Given the description of an element on the screen output the (x, y) to click on. 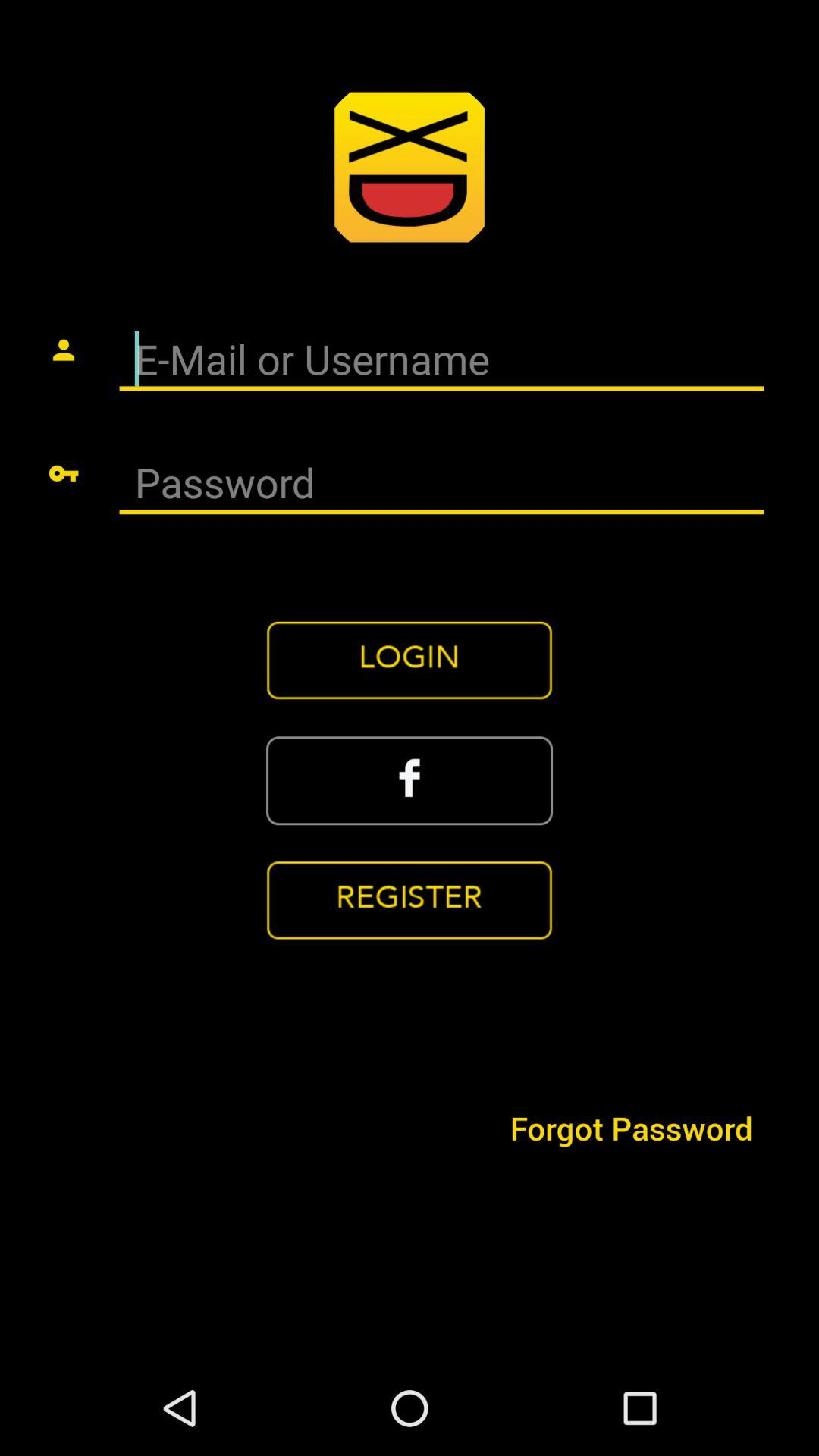
tap icon at the bottom right corner (631, 1127)
